Given the description of an element on the screen output the (x, y) to click on. 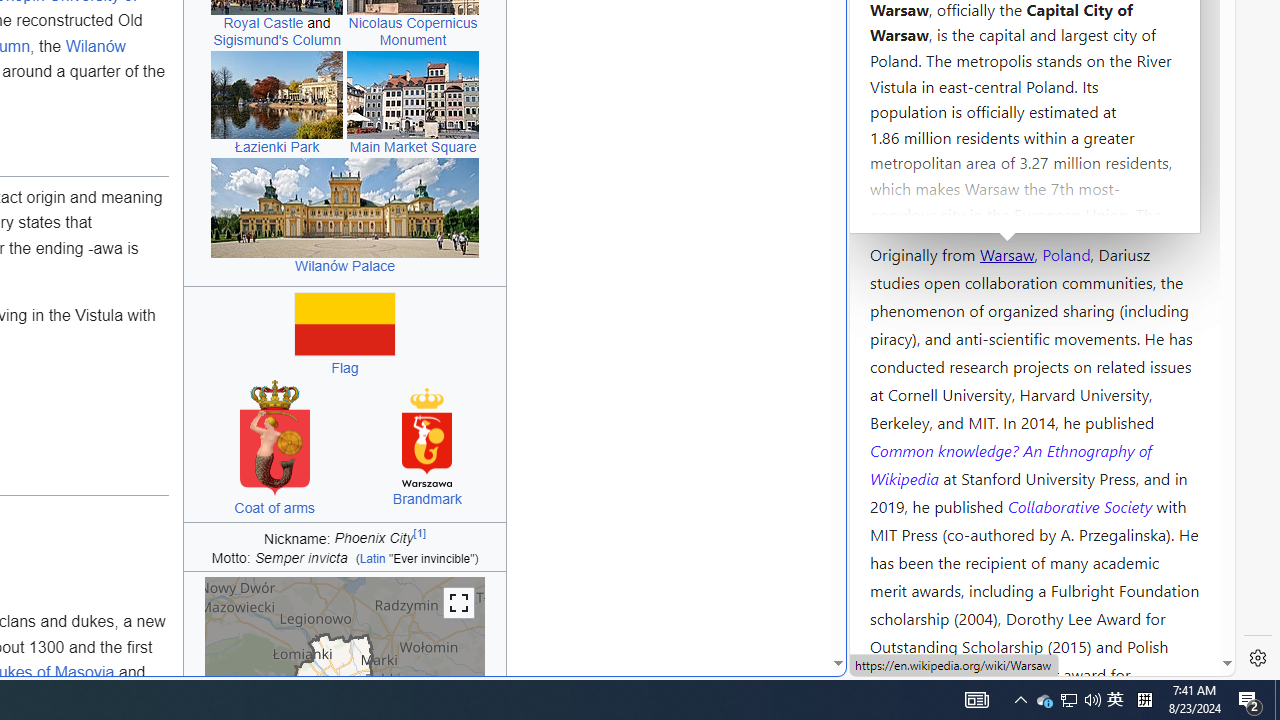
Nicolaus Copernicus Monument (412, 31)
